Given the description of an element on the screen output the (x, y) to click on. 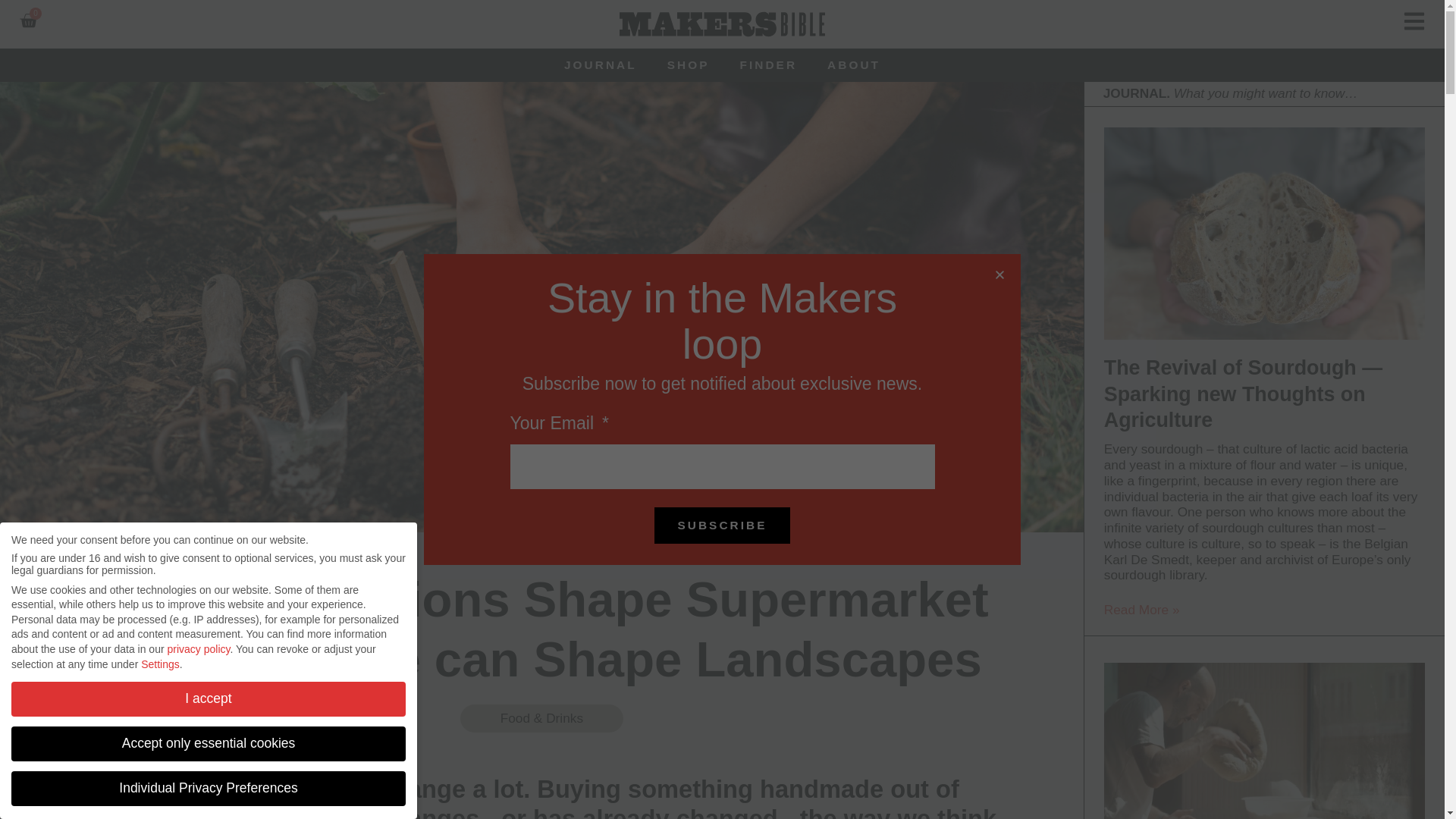
ABOUT (853, 64)
SHOP (688, 64)
0 (27, 20)
JOURNAL (600, 64)
FINDER (768, 64)
